Given the description of an element on the screen output the (x, y) to click on. 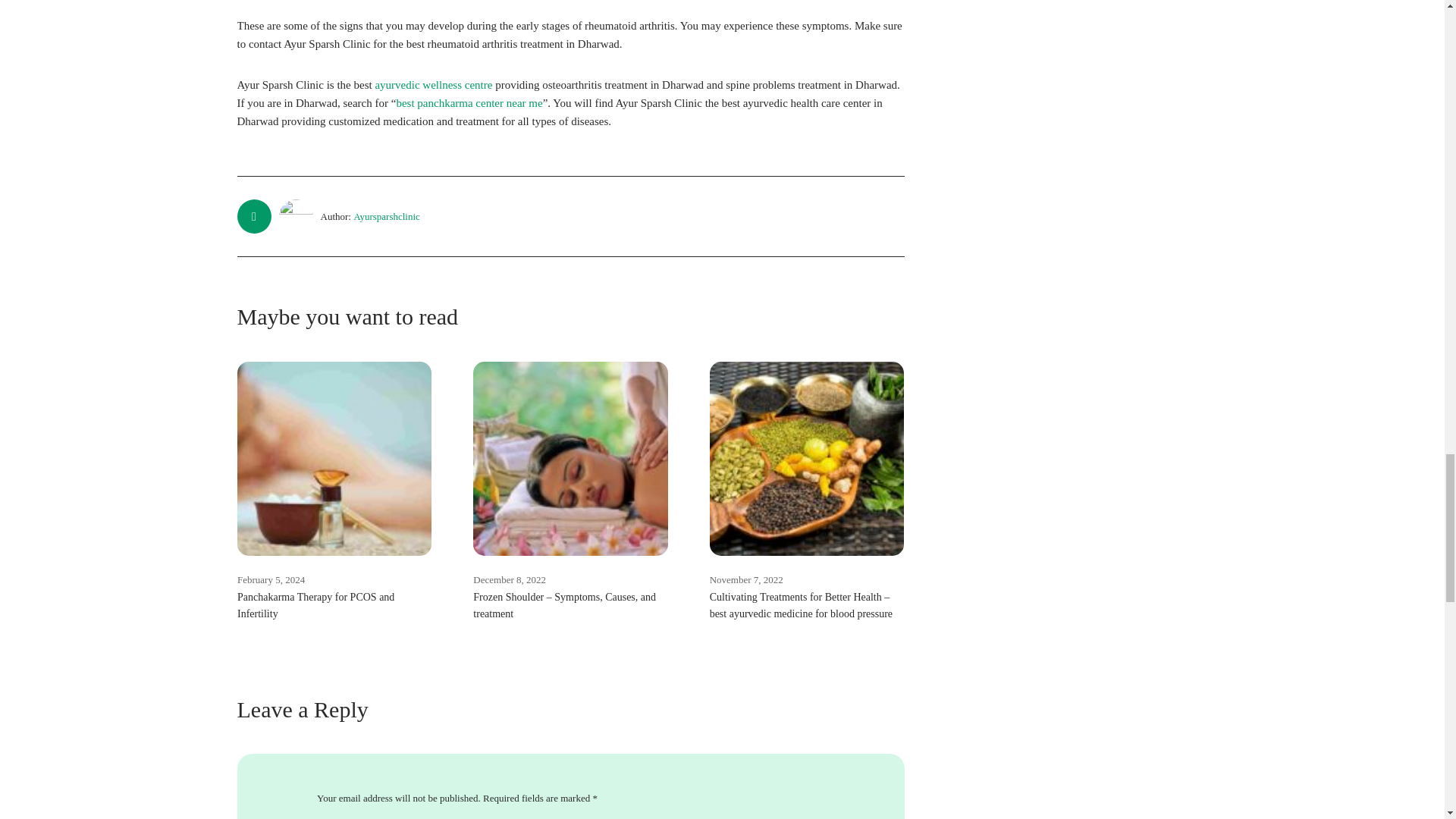
Ayursparshclinic (386, 215)
Posts by Ayursparshclinic (386, 215)
best panchkarma center near me (468, 102)
Panchakarma Therapy for PCOS and Infertility (315, 605)
ayurvedic wellness centre (433, 84)
